Given the description of an element on the screen output the (x, y) to click on. 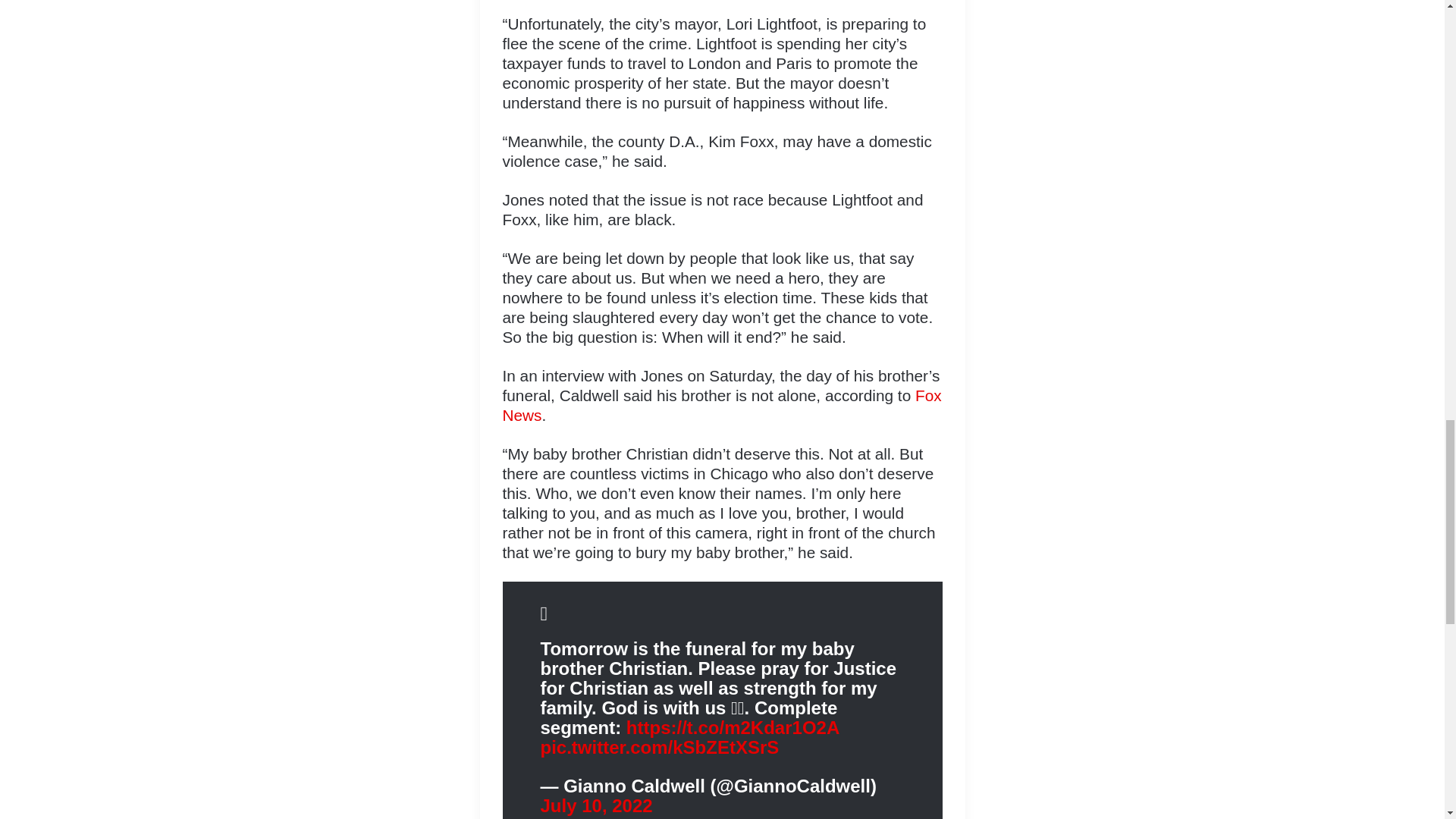
July 10, 2022 (596, 805)
Fox News (721, 405)
